Given the description of an element on the screen output the (x, y) to click on. 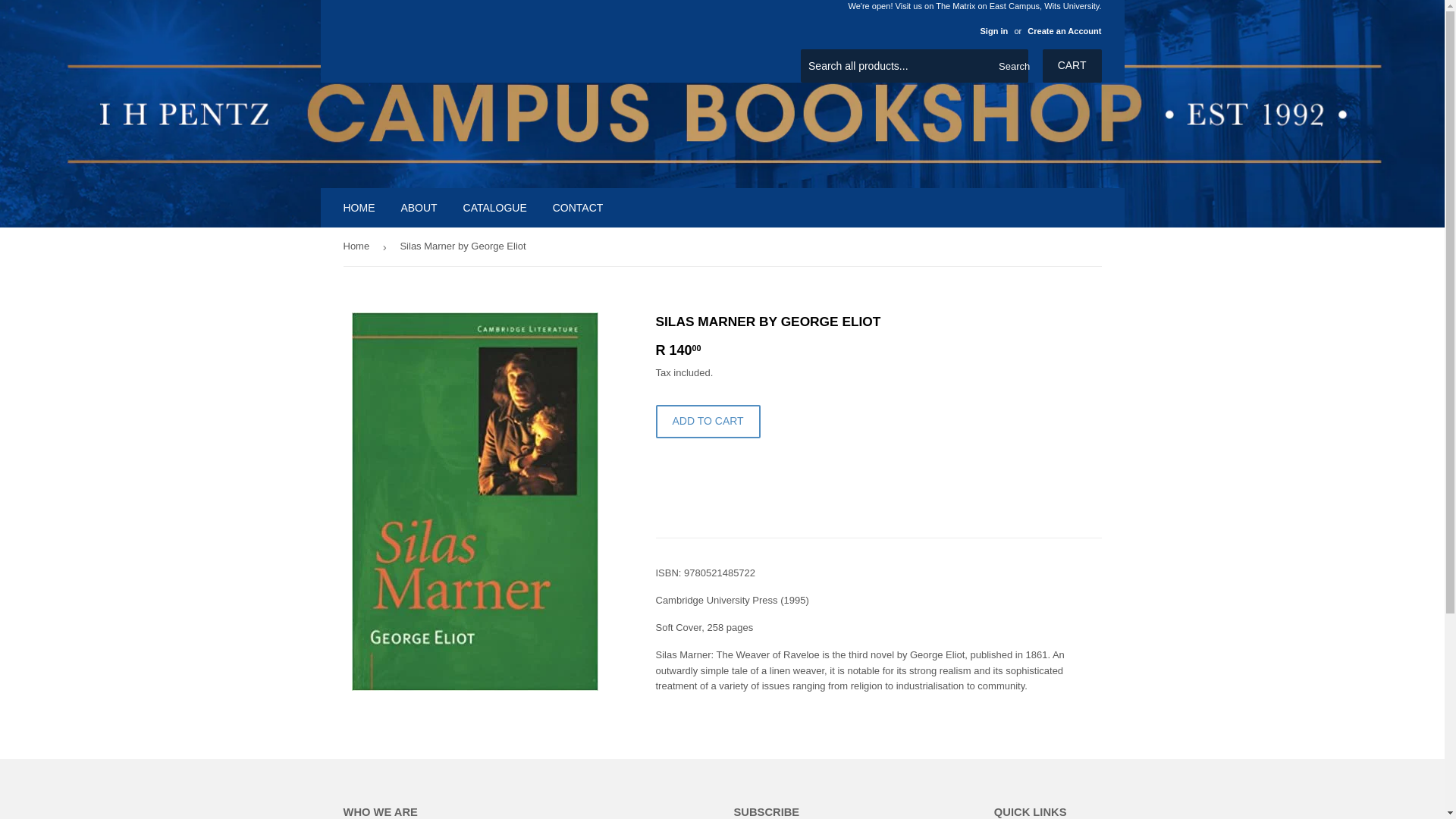
ABOUT (418, 207)
ADD TO CART (707, 421)
CART (1072, 65)
Sign in (993, 31)
CATALOGUE (494, 207)
HOME (359, 207)
Search (1010, 66)
Create an Account (1063, 31)
CONTACT (577, 207)
